Given the description of an element on the screen output the (x, y) to click on. 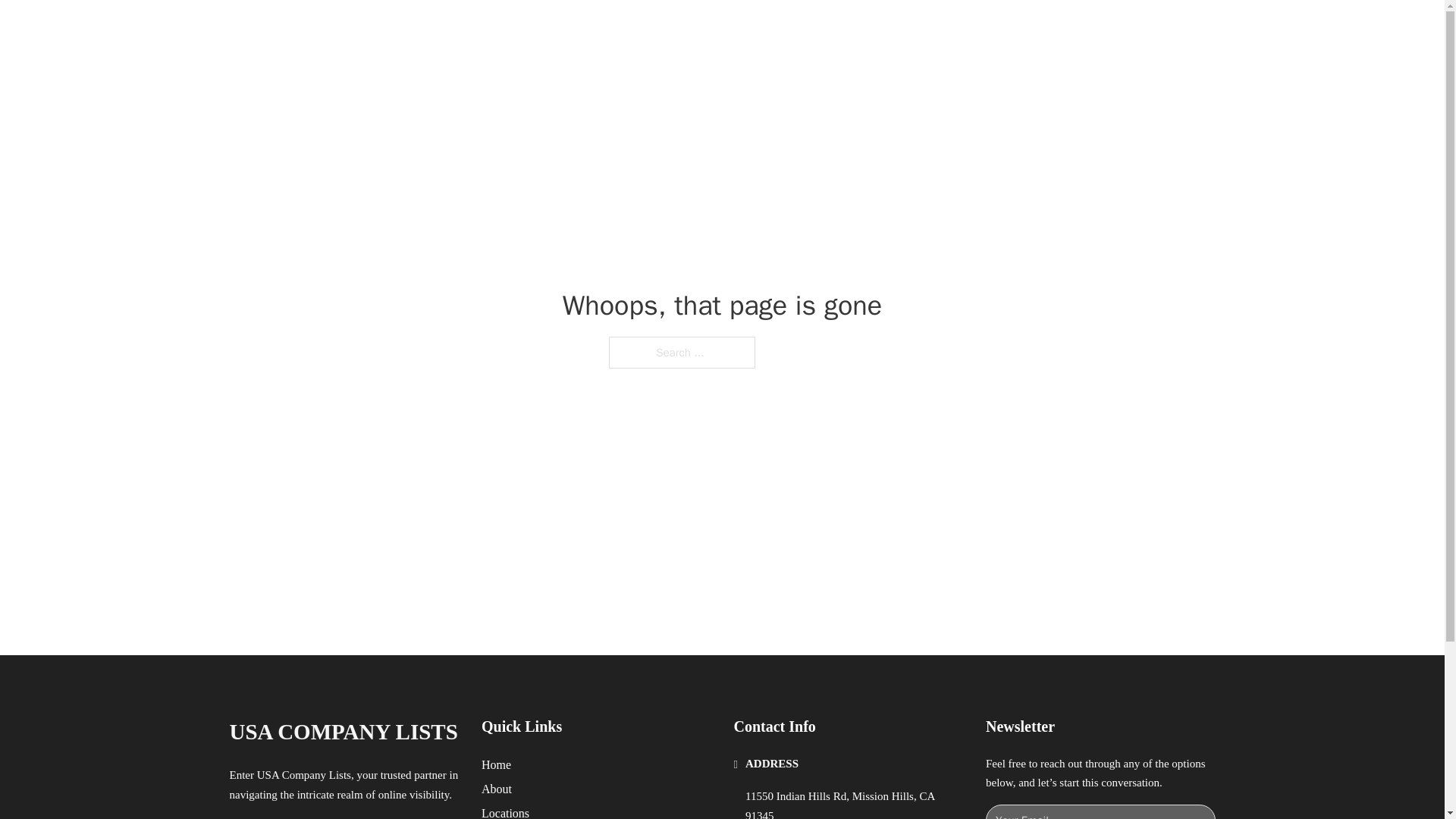
Home (496, 764)
HOME (919, 29)
Locations (505, 811)
USA COMPANY LISTS (342, 732)
About (496, 788)
USA COMPANY LISTS (416, 28)
LOCATIONS (990, 29)
